Given the description of an element on the screen output the (x, y) to click on. 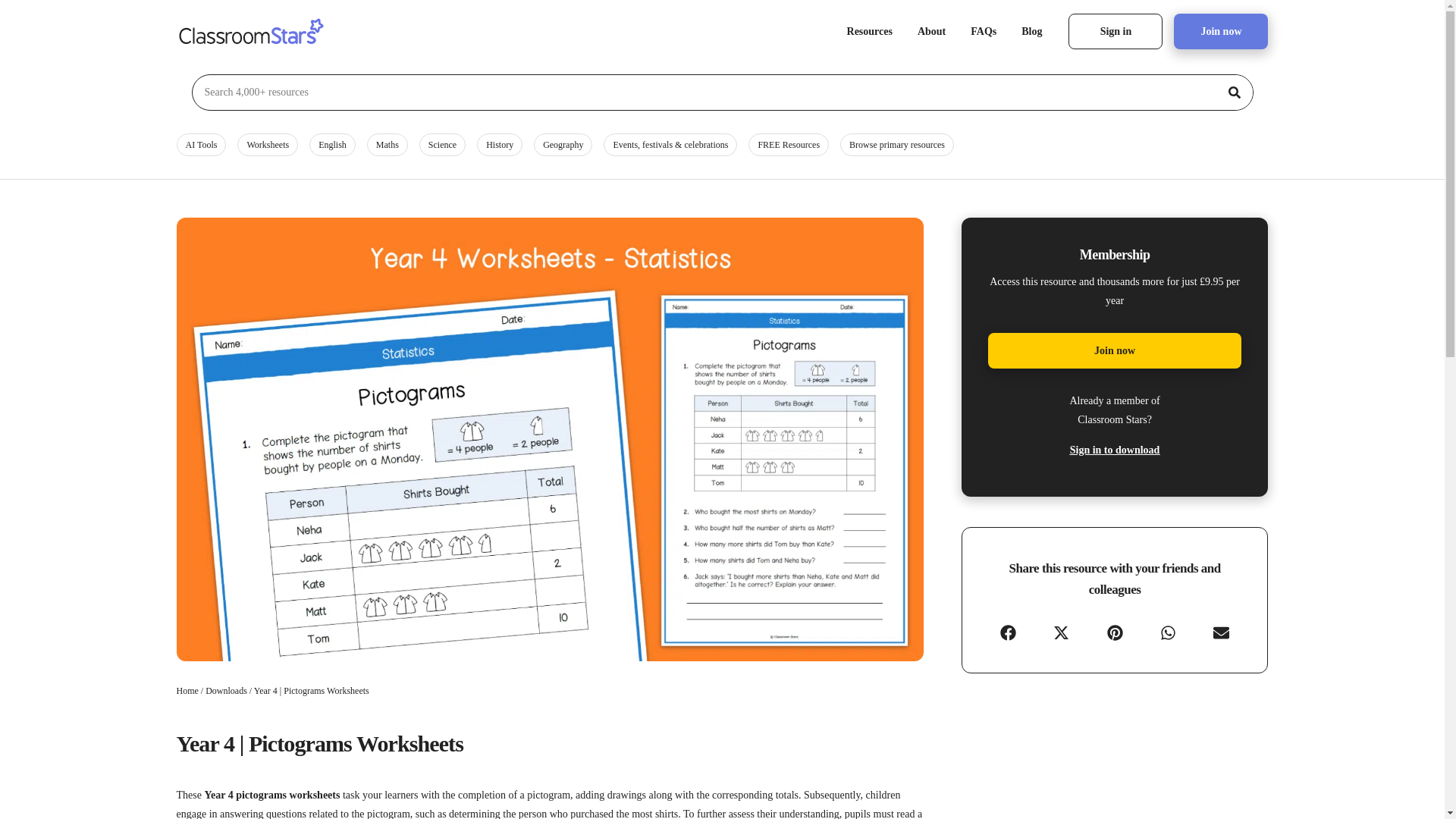
FREE Resources (788, 144)
AI Tools (200, 144)
Home (187, 690)
Sign in to download (1115, 450)
About (930, 31)
History (499, 144)
Worksheets (267, 144)
Resources (869, 31)
Join now (1114, 350)
English (331, 144)
FAQs (983, 31)
Browse primary resources (896, 144)
Science (442, 144)
Join now (1220, 31)
Maths (386, 144)
